Given the description of an element on the screen output the (x, y) to click on. 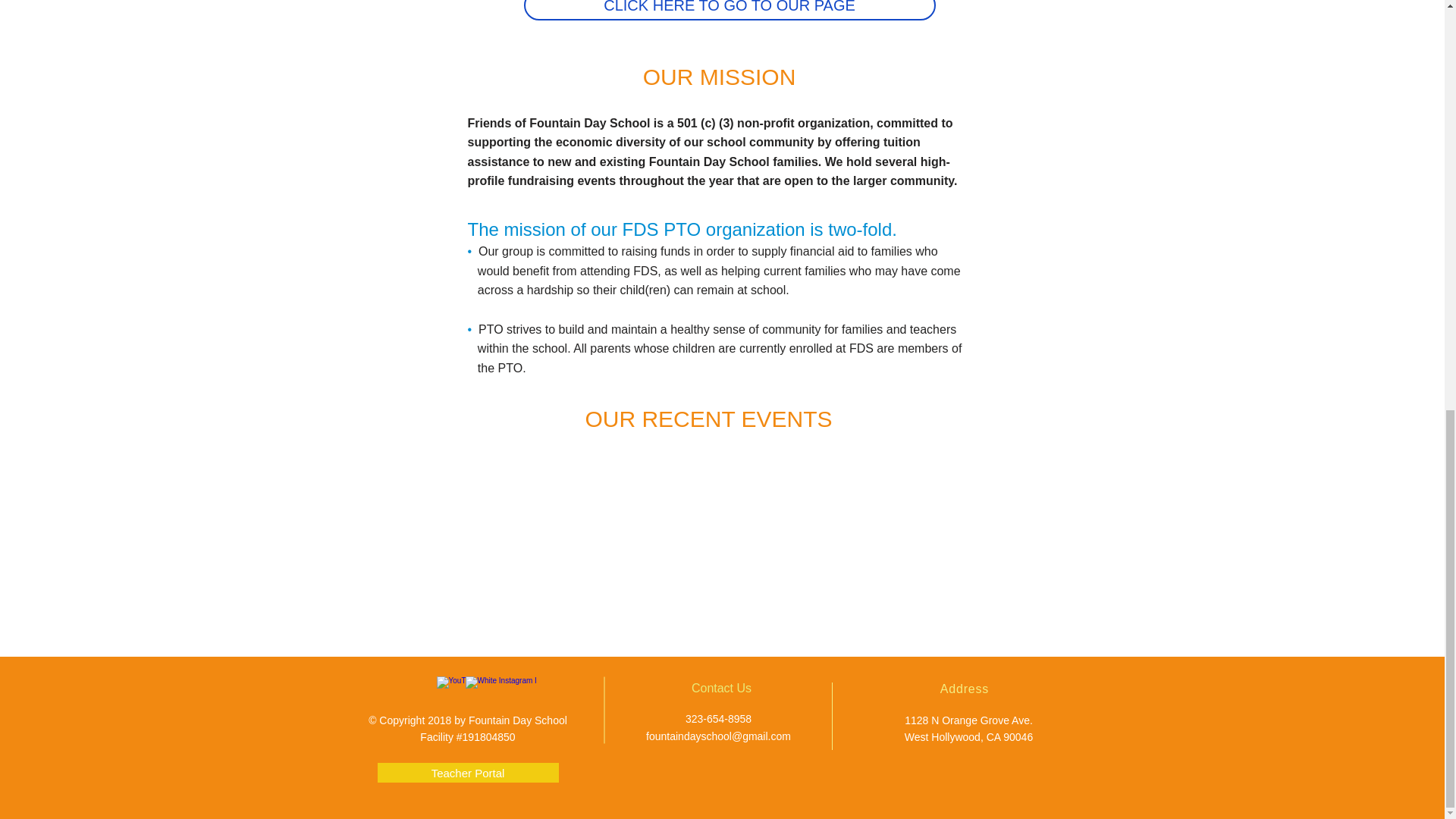
Teacher Portal (468, 772)
CLICK HERE TO GO TO OUR PAGE (728, 10)
